Given the description of an element on the screen output the (x, y) to click on. 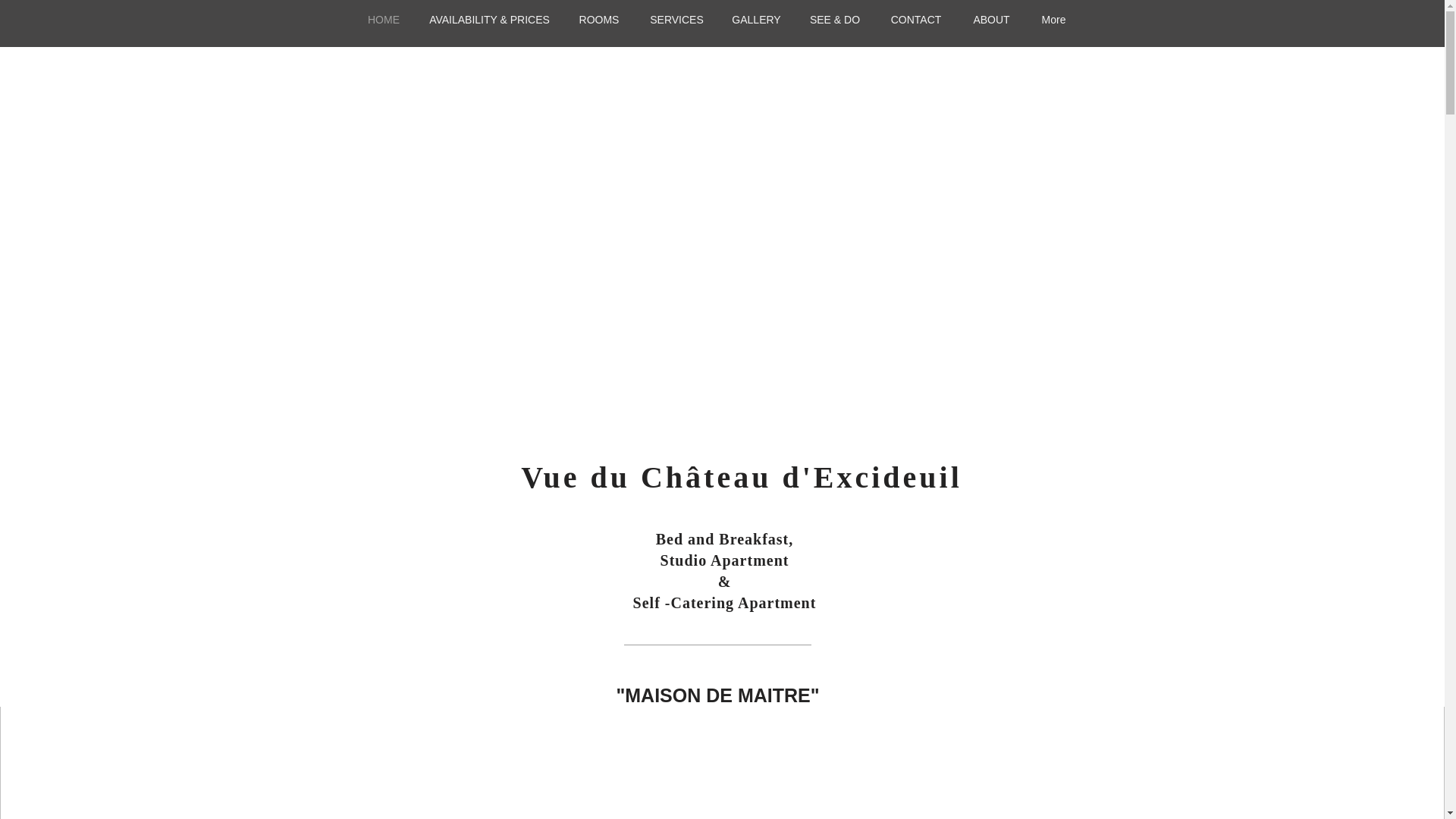
ROOMS (599, 20)
SERVICES (675, 20)
HOME (383, 20)
GALLERY (755, 20)
CONTACT (916, 20)
ABOUT (990, 20)
